Given the description of an element on the screen output the (x, y) to click on. 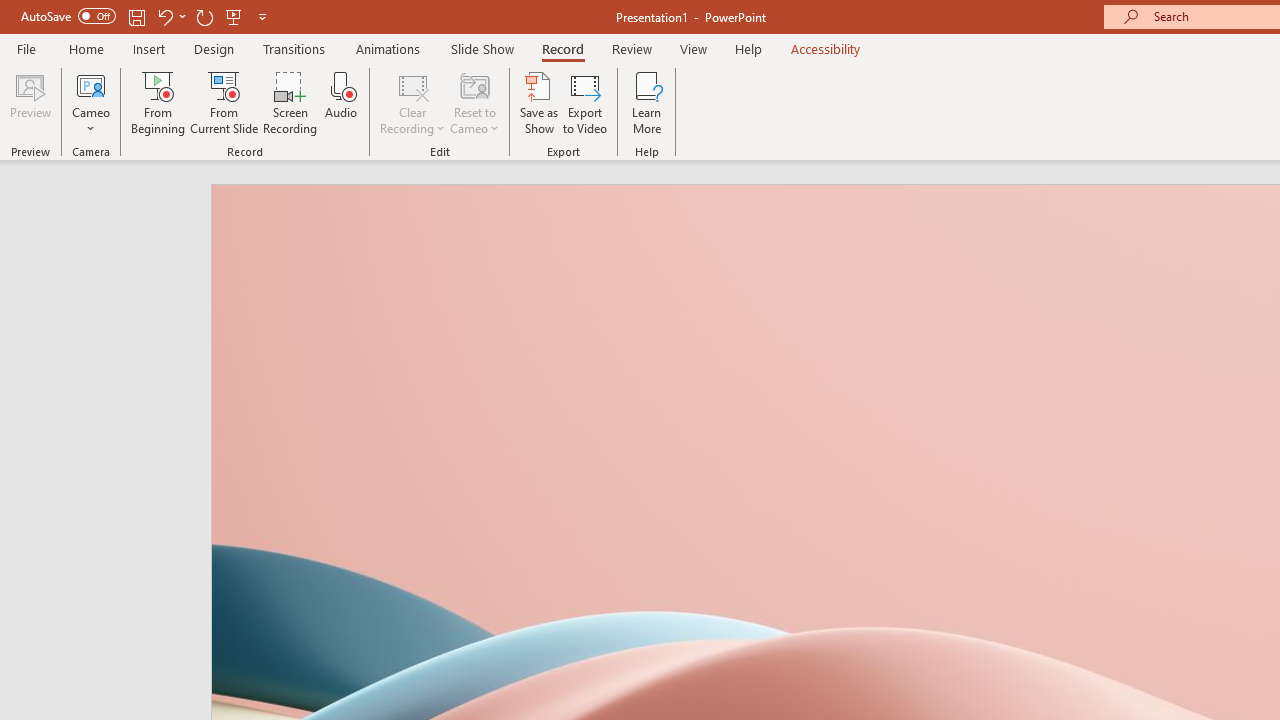
Screen Recording (290, 102)
Reset to Cameo (474, 102)
Learn More (646, 102)
From Current Slide... (224, 102)
